Given the description of an element on the screen output the (x, y) to click on. 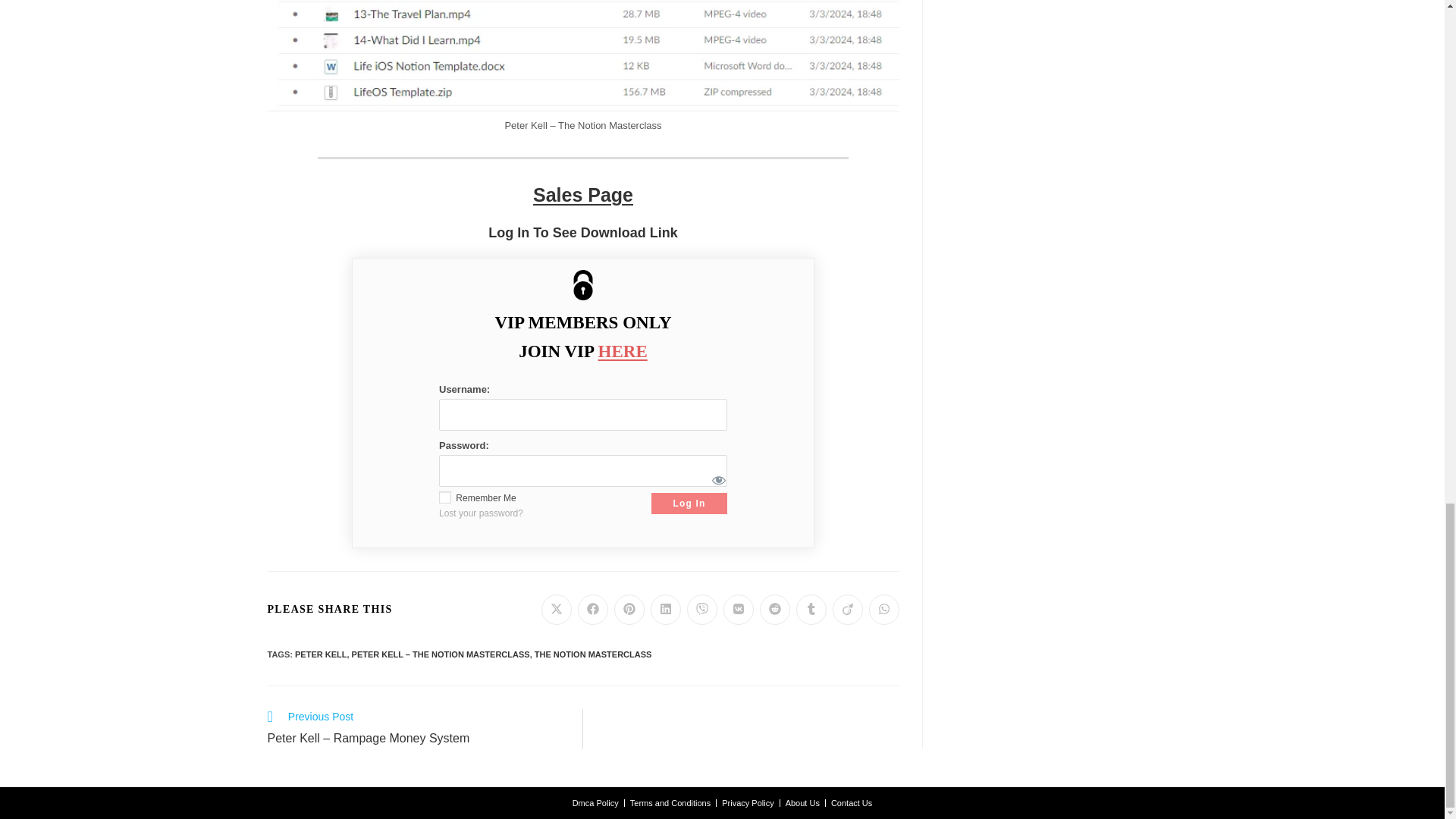
HERE (622, 351)
PETER KELL (320, 654)
forever (445, 497)
Sales Page (582, 194)
Log In (688, 503)
Log In (688, 503)
Lost your password? (485, 512)
